Given the description of an element on the screen output the (x, y) to click on. 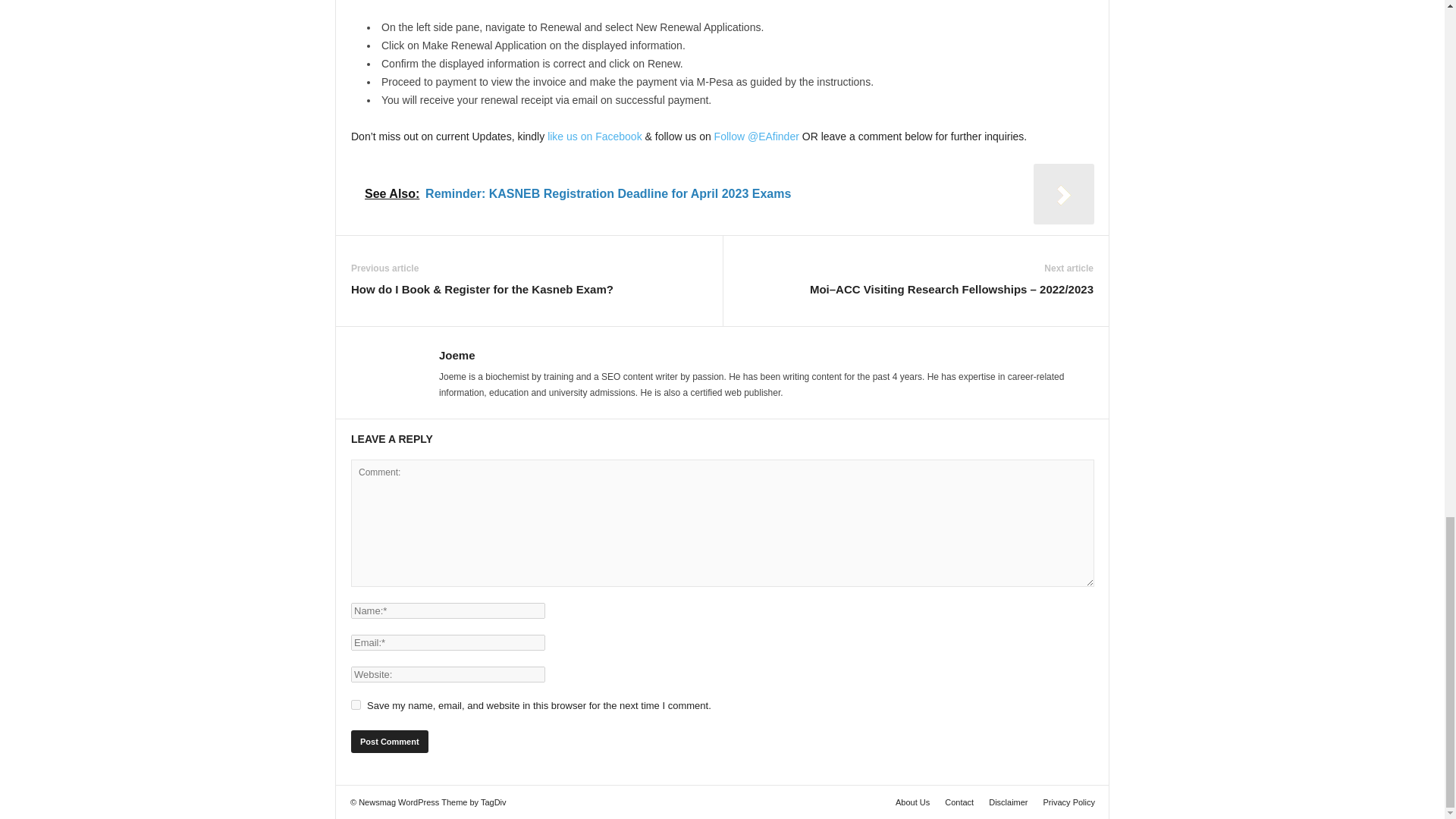
Post Comment (389, 741)
yes (355, 705)
like us on Facebook (594, 136)
Joeme (457, 354)
